Given the description of an element on the screen output the (x, y) to click on. 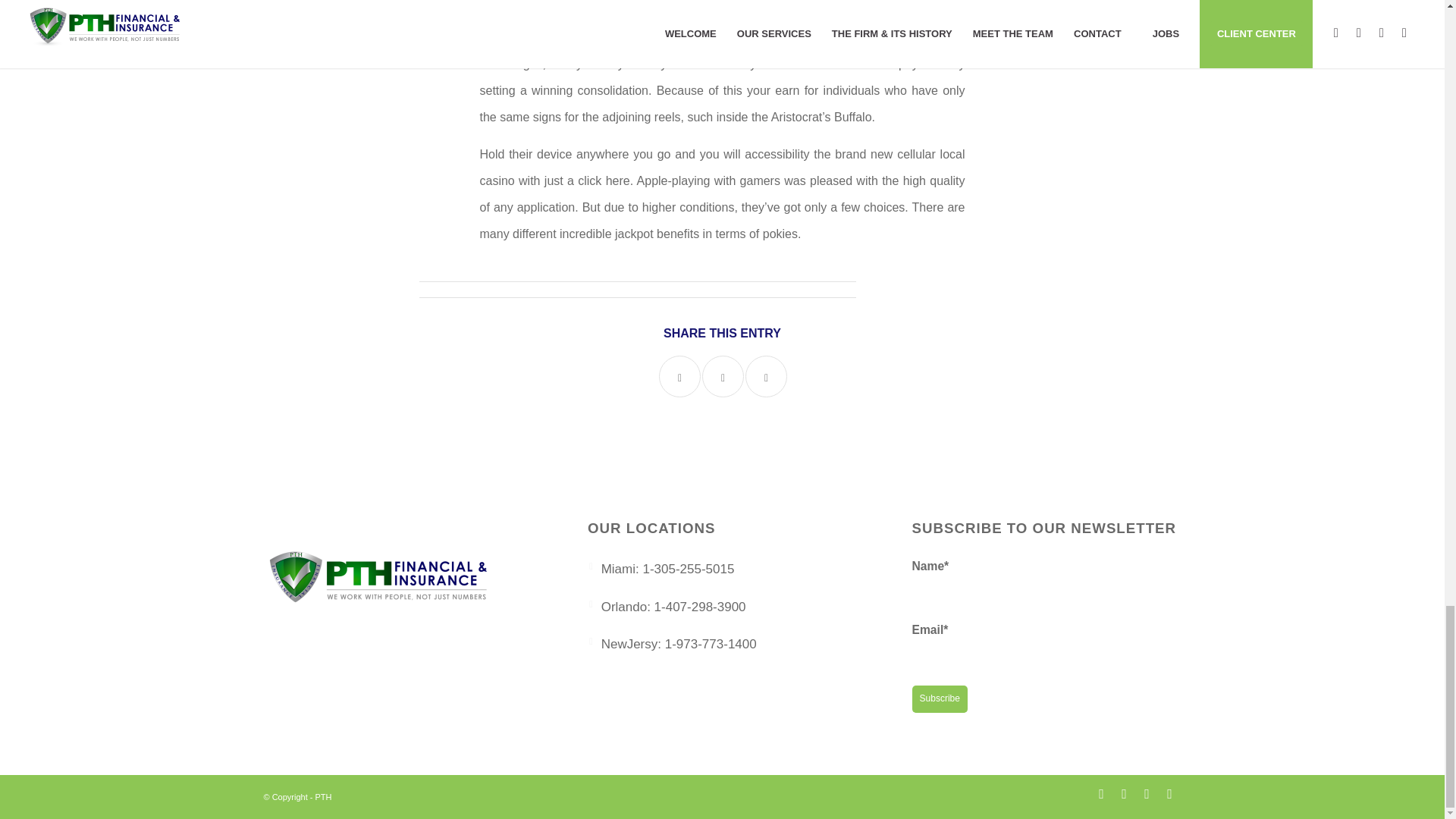
Subscribe (940, 698)
